Given the description of an element on the screen output the (x, y) to click on. 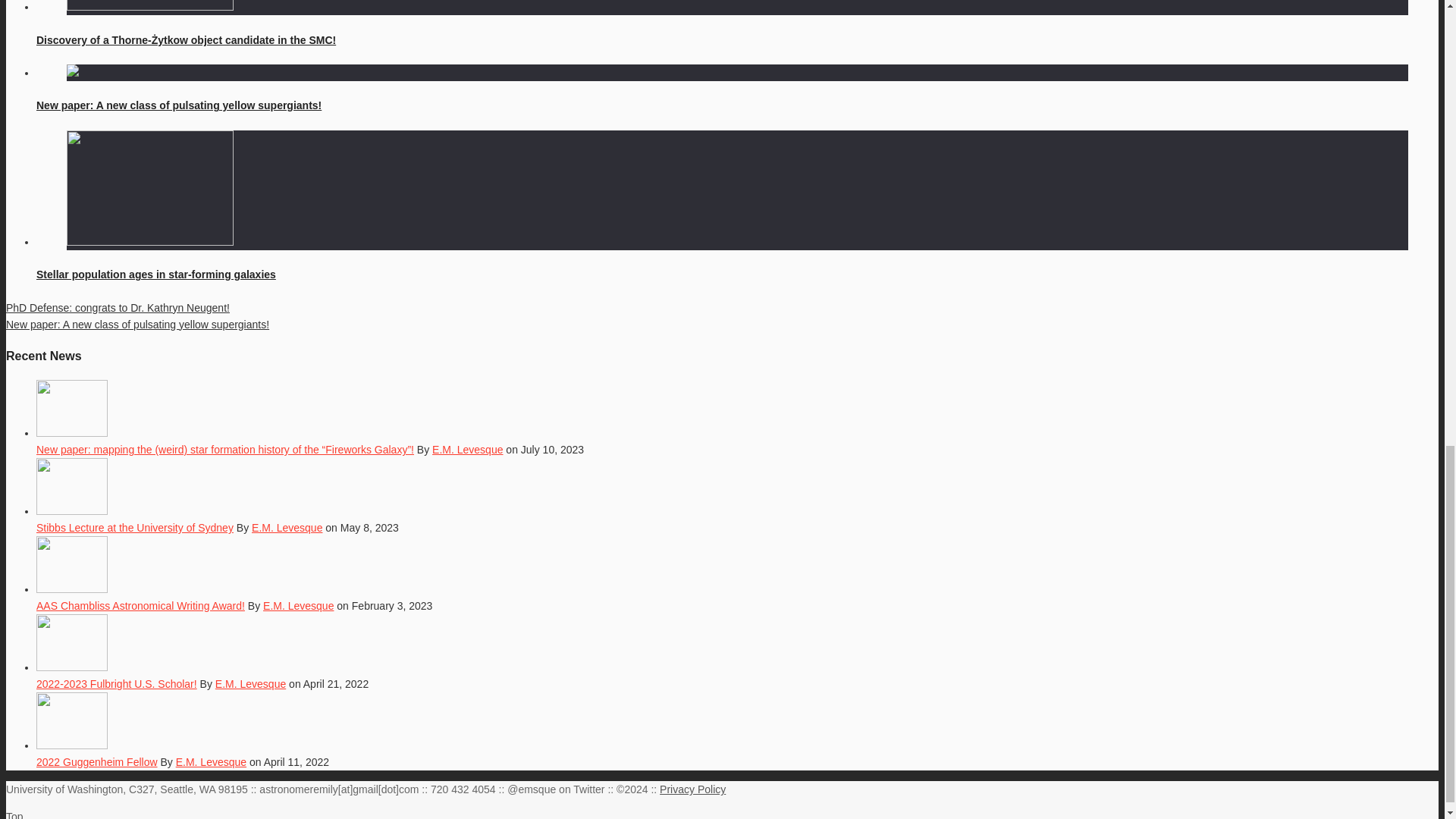
PhD Defense: congrats to Dr. Kathryn Neugent! (117, 307)
New paper: A new class of pulsating yellow supergiants! (178, 105)
2022-2023 Fulbright U.S. Scholar! (116, 684)
Stellar population ages in star-forming galaxies (156, 274)
New paper: A new class of pulsating yellow supergiants! (137, 324)
AAS Chambliss Astronomical Writing Award! (140, 605)
Stibbs Lecture at the University of Sydney (134, 527)
